Given the description of an element on the screen output the (x, y) to click on. 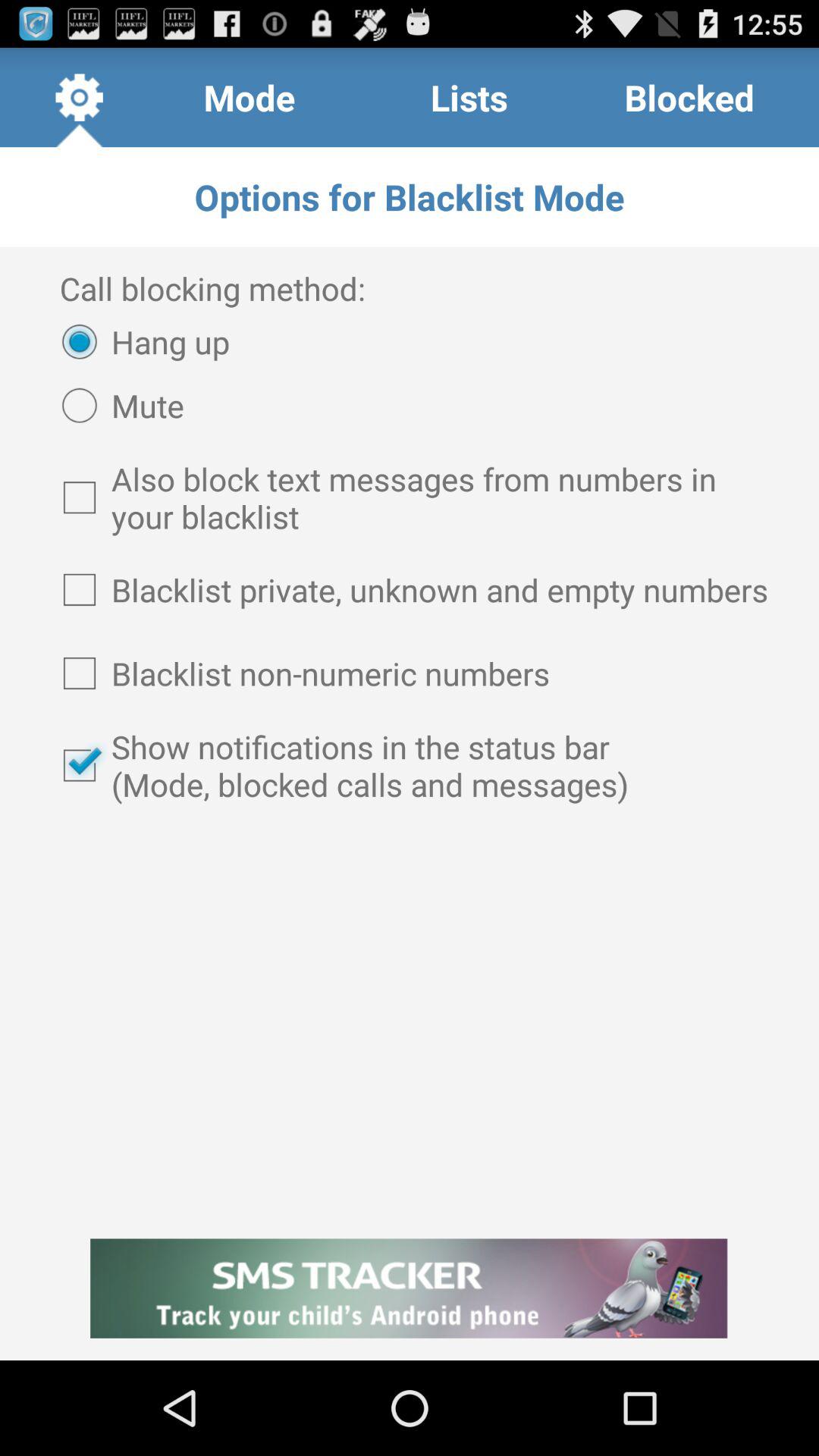
select the icon below the call blocking method: app (138, 341)
